Given the description of an element on the screen output the (x, y) to click on. 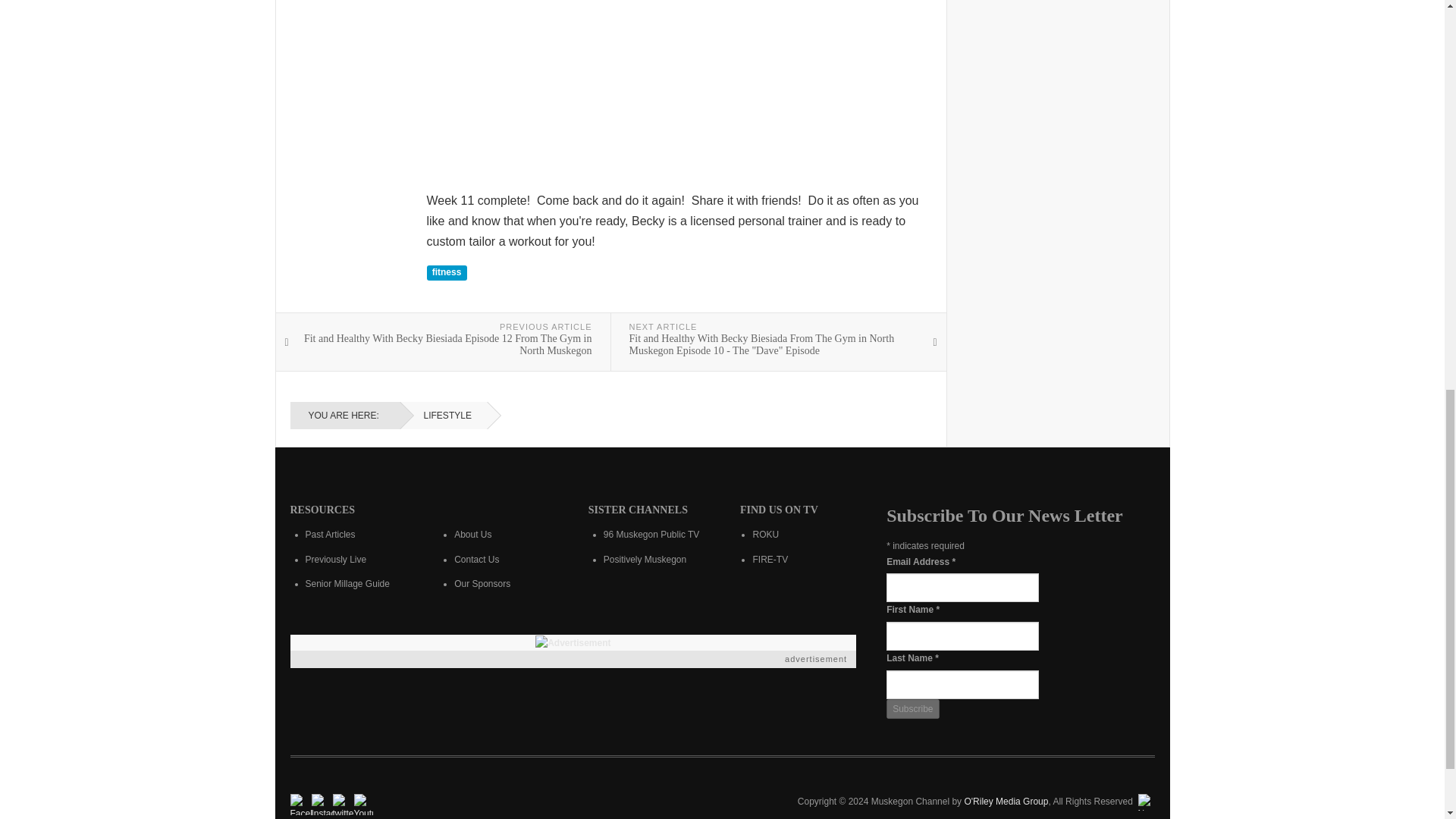
Subscribe (912, 709)
